Given the description of an element on the screen output the (x, y) to click on. 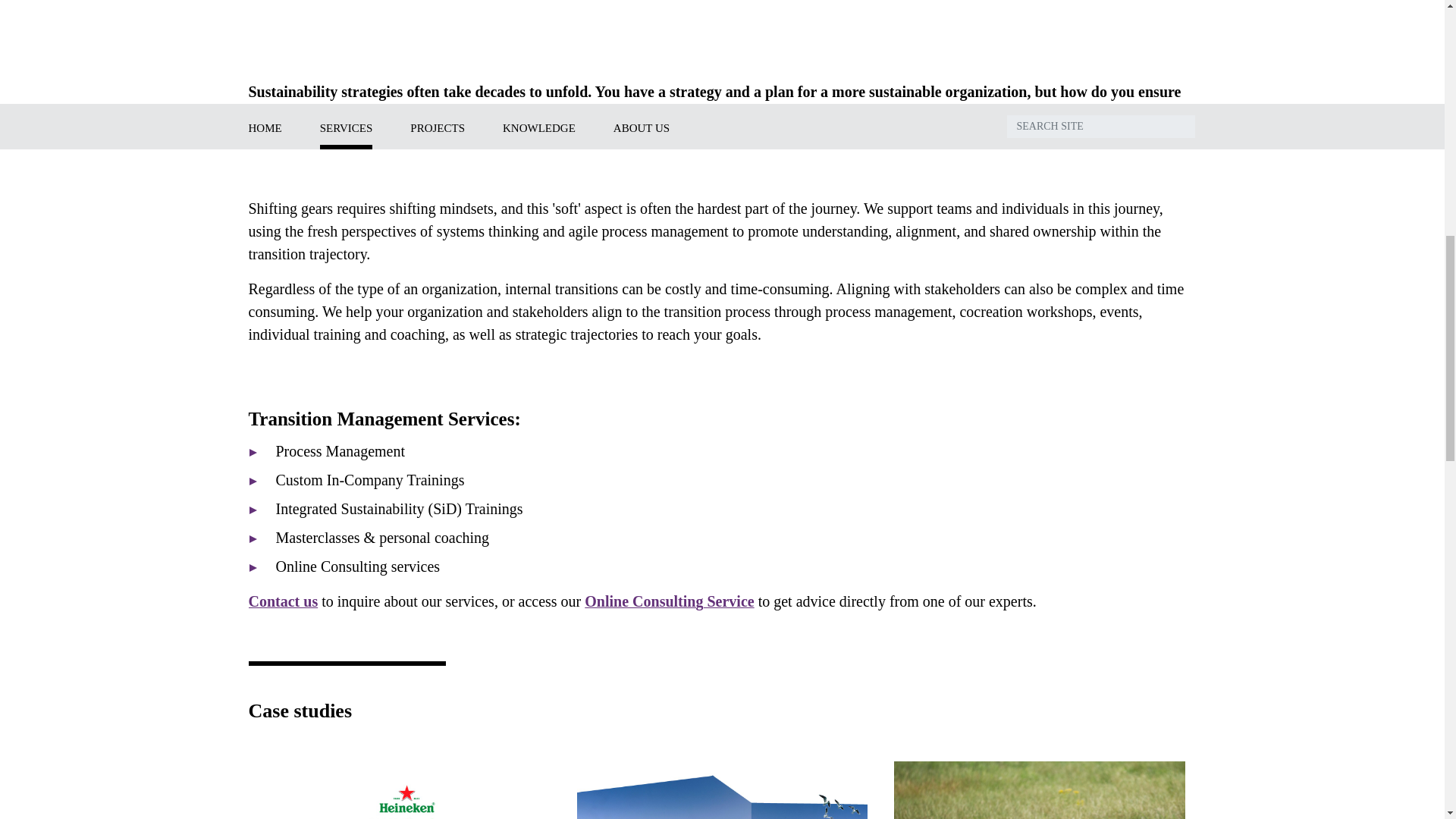
Contact us (283, 600)
Online Consulting Service (669, 600)
